Given the description of an element on the screen output the (x, y) to click on. 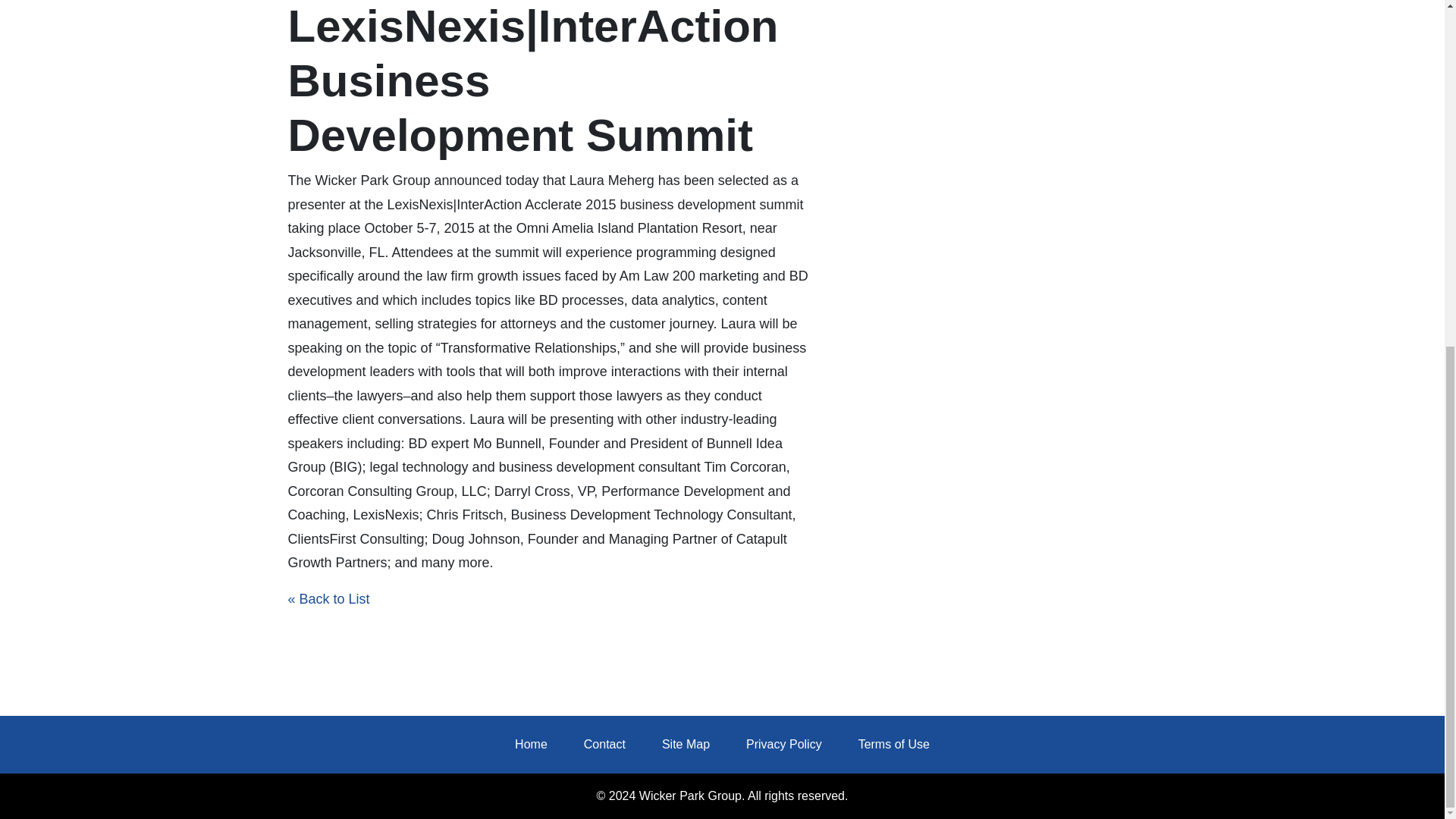
Home (531, 744)
Site Map (686, 744)
Terms of Use (894, 744)
Privacy Policy (783, 744)
Contact (604, 744)
